Given the description of an element on the screen output the (x, y) to click on. 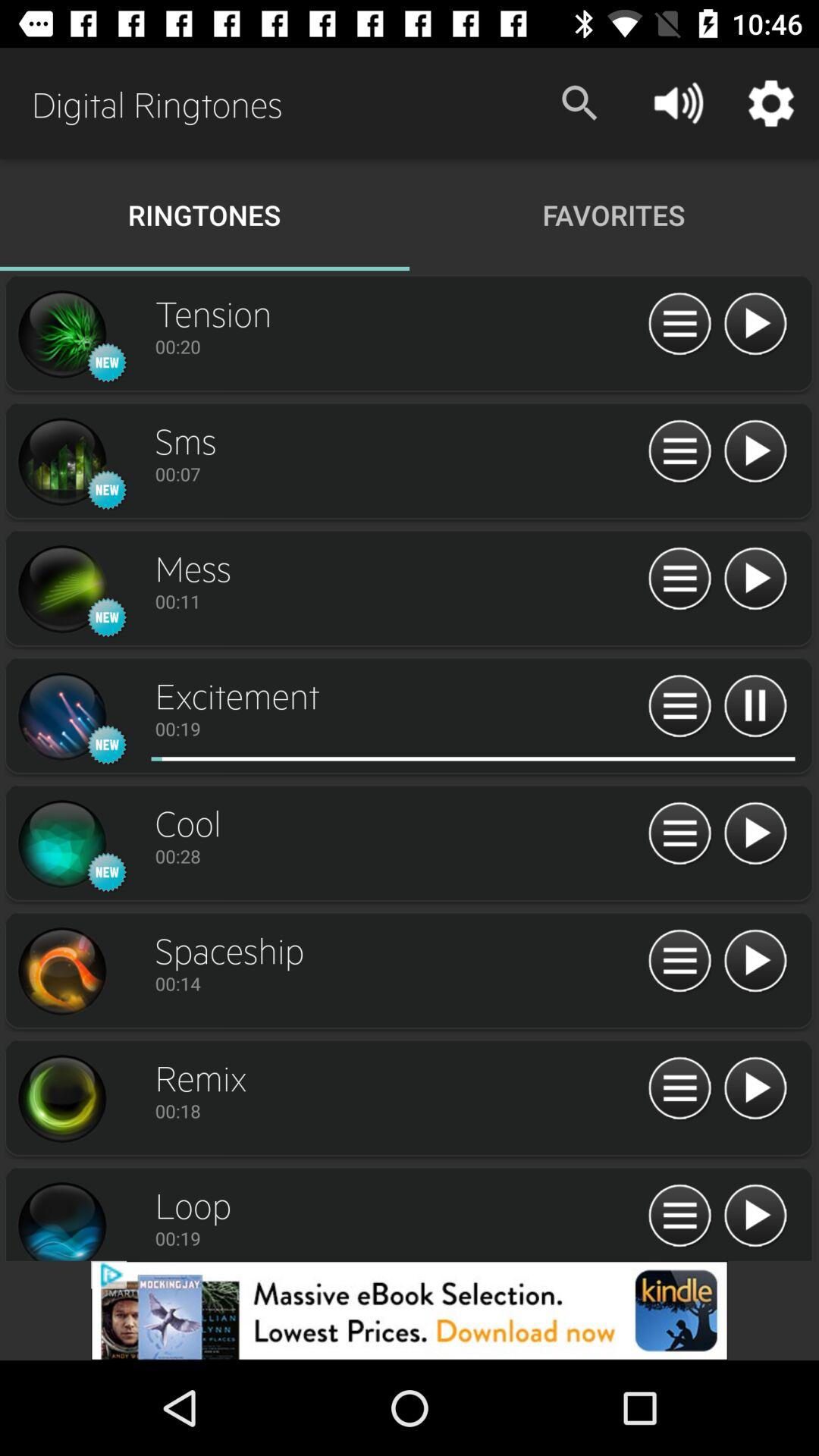
excitement start runing (404, 758)
